Given the description of an element on the screen output the (x, y) to click on. 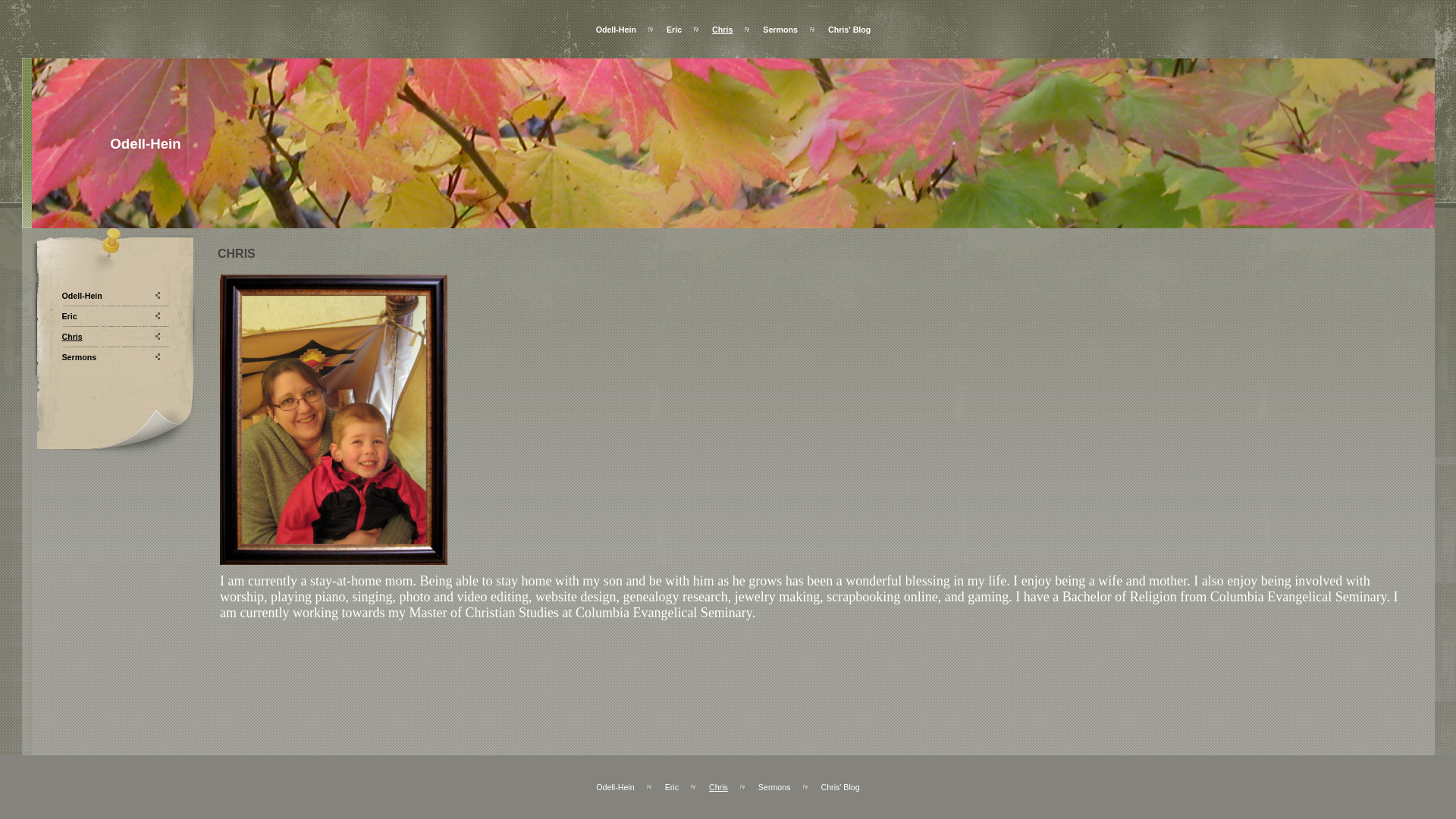
Sermons (779, 28)
Eric (673, 28)
Eric (671, 786)
Sermons (79, 356)
Eric (69, 315)
Sermons (774, 786)
Odell-Hein (81, 295)
Chris (721, 28)
Chris' Blog (840, 786)
Chris' Blog (849, 28)
